Given the description of an element on the screen output the (x, y) to click on. 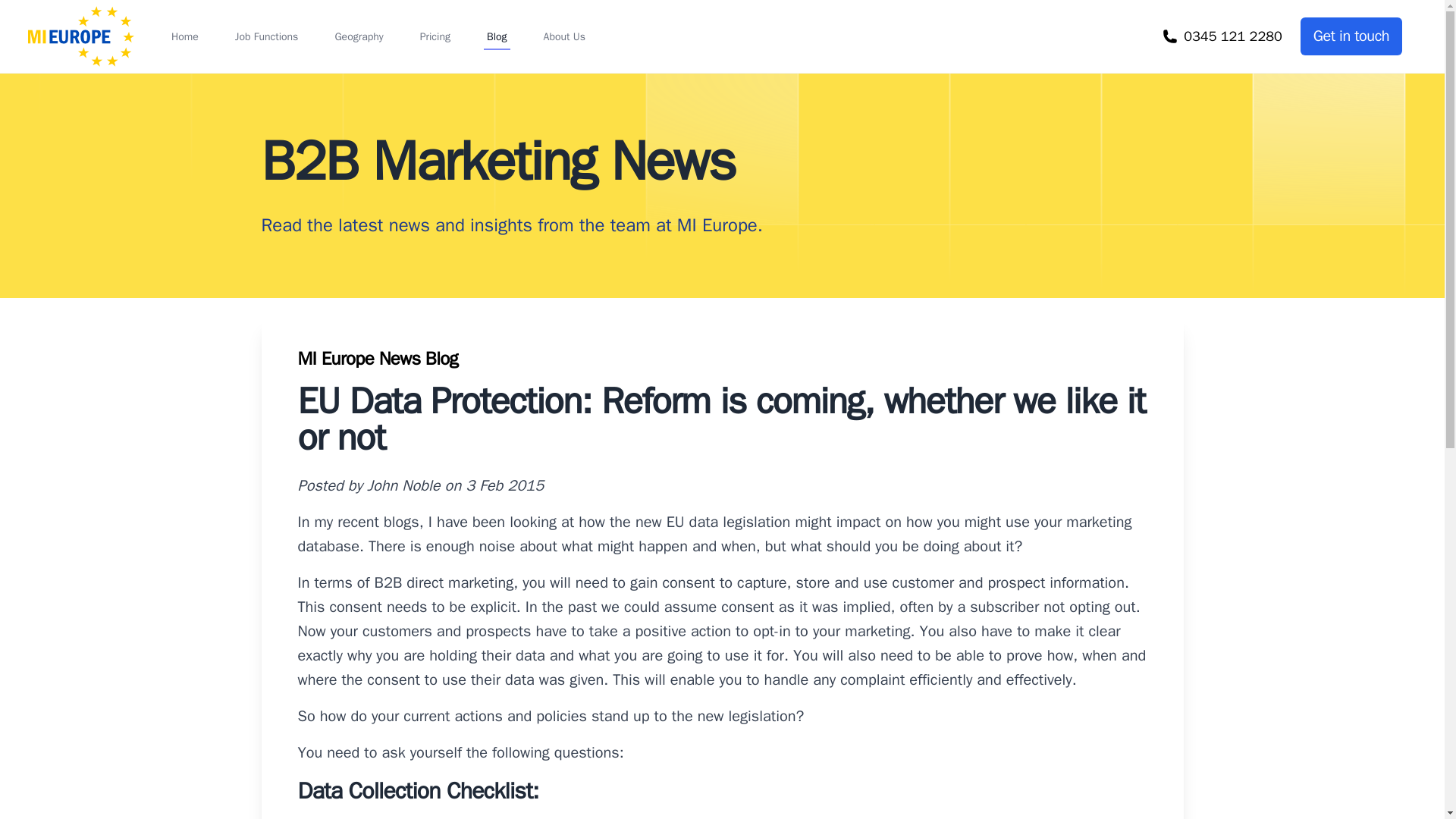
About Us (564, 35)
0345 121 2280 (1221, 35)
Blog (497, 35)
Get in touch (1351, 35)
Job Functions (266, 35)
Pricing (434, 35)
Get in touch (1351, 36)
Home (185, 35)
Geography (358, 35)
MI Europe News Blog (377, 358)
